Given the description of an element on the screen output the (x, y) to click on. 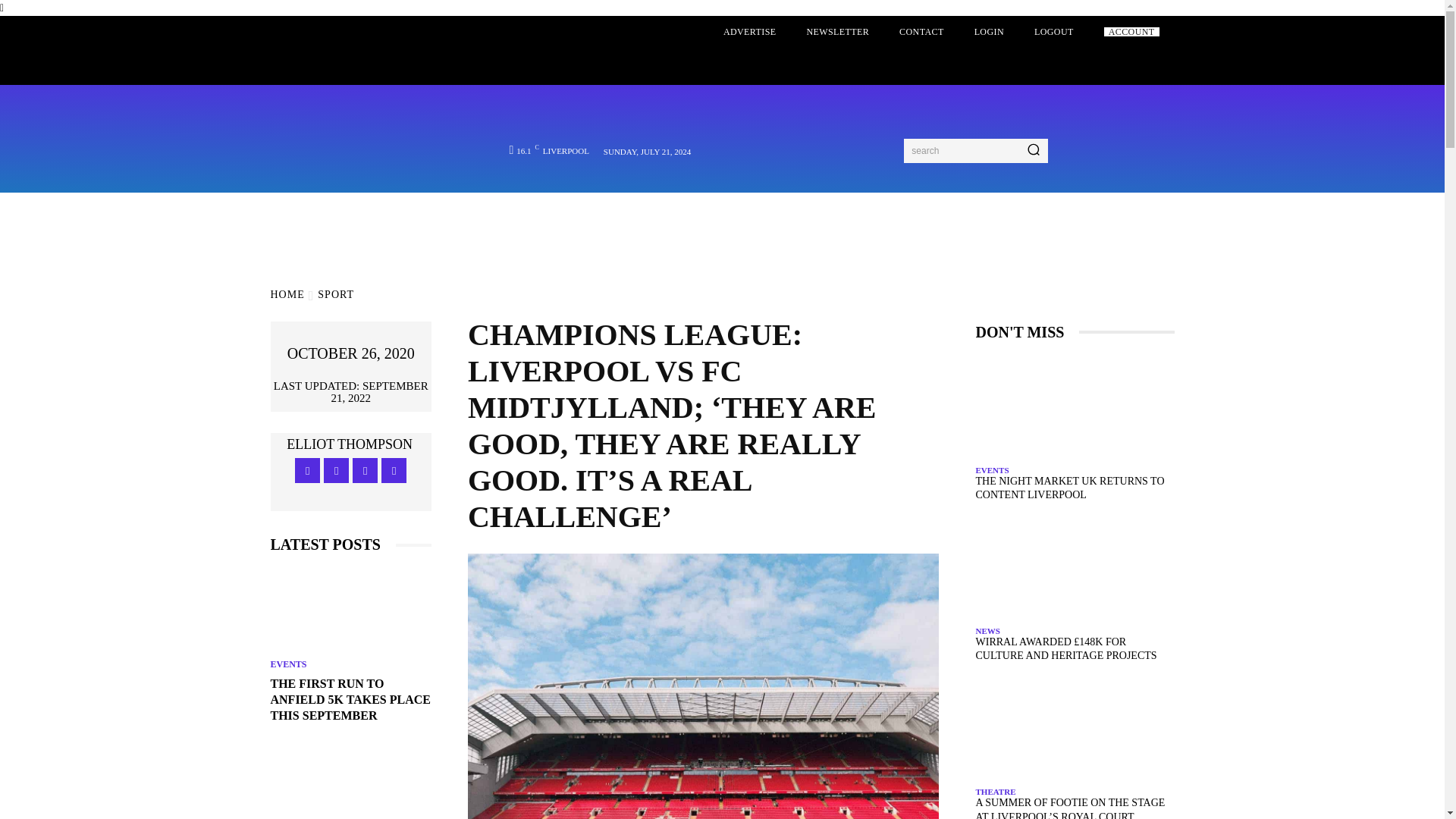
Instagram (336, 470)
View all posts in Sport (335, 294)
logo (368, 118)
Facebook (307, 470)
